Given the description of an element on the screen output the (x, y) to click on. 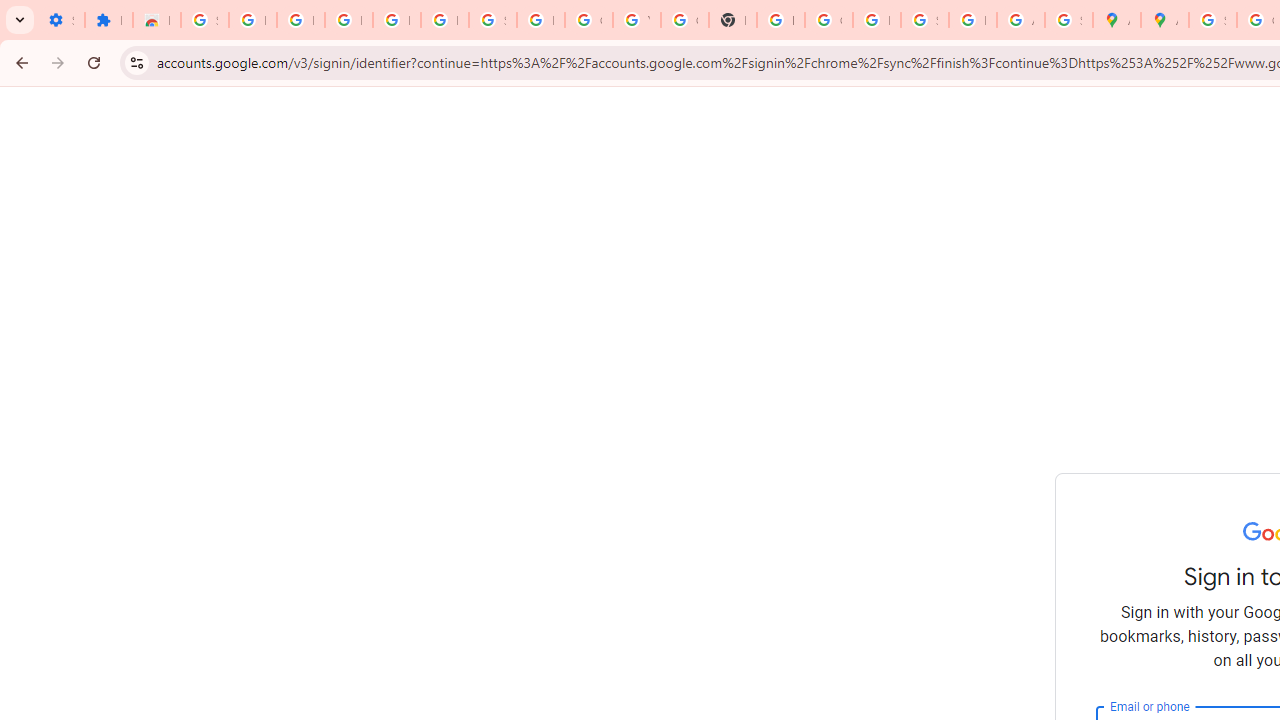
Sign in - Google Accounts (1212, 20)
Delete photos & videos - Computer - Google Photos Help (348, 20)
Sign in - Google Accounts (492, 20)
https://scholar.google.com/ (780, 20)
Sign in - Google Accounts (204, 20)
Safety in Our Products - Google Safety Center (1068, 20)
Google Account (588, 20)
